Given the description of an element on the screen output the (x, y) to click on. 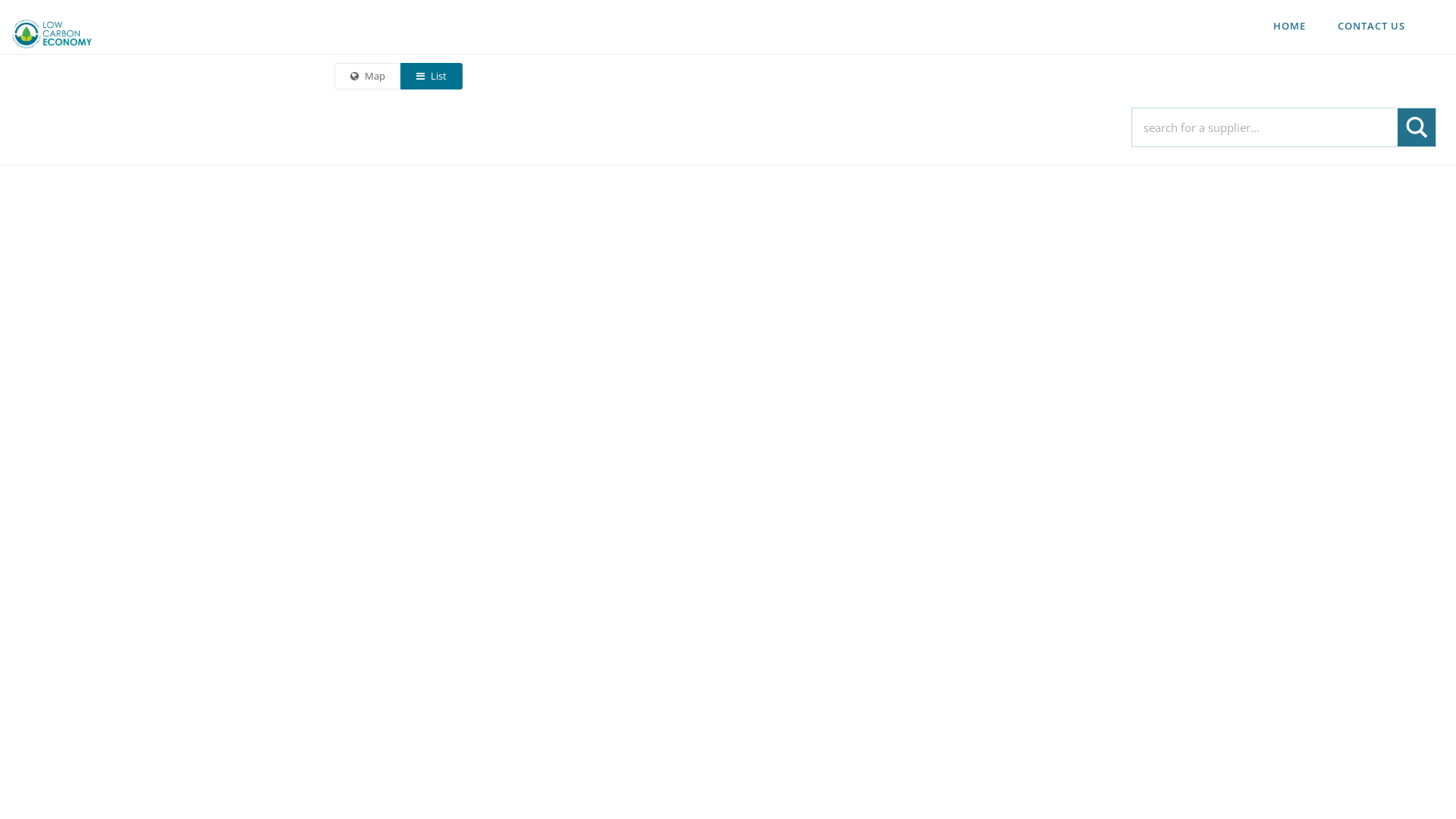
HOME Element type: text (1289, 25)
CONTACT US Element type: text (1371, 25)
